Given the description of an element on the screen output the (x, y) to click on. 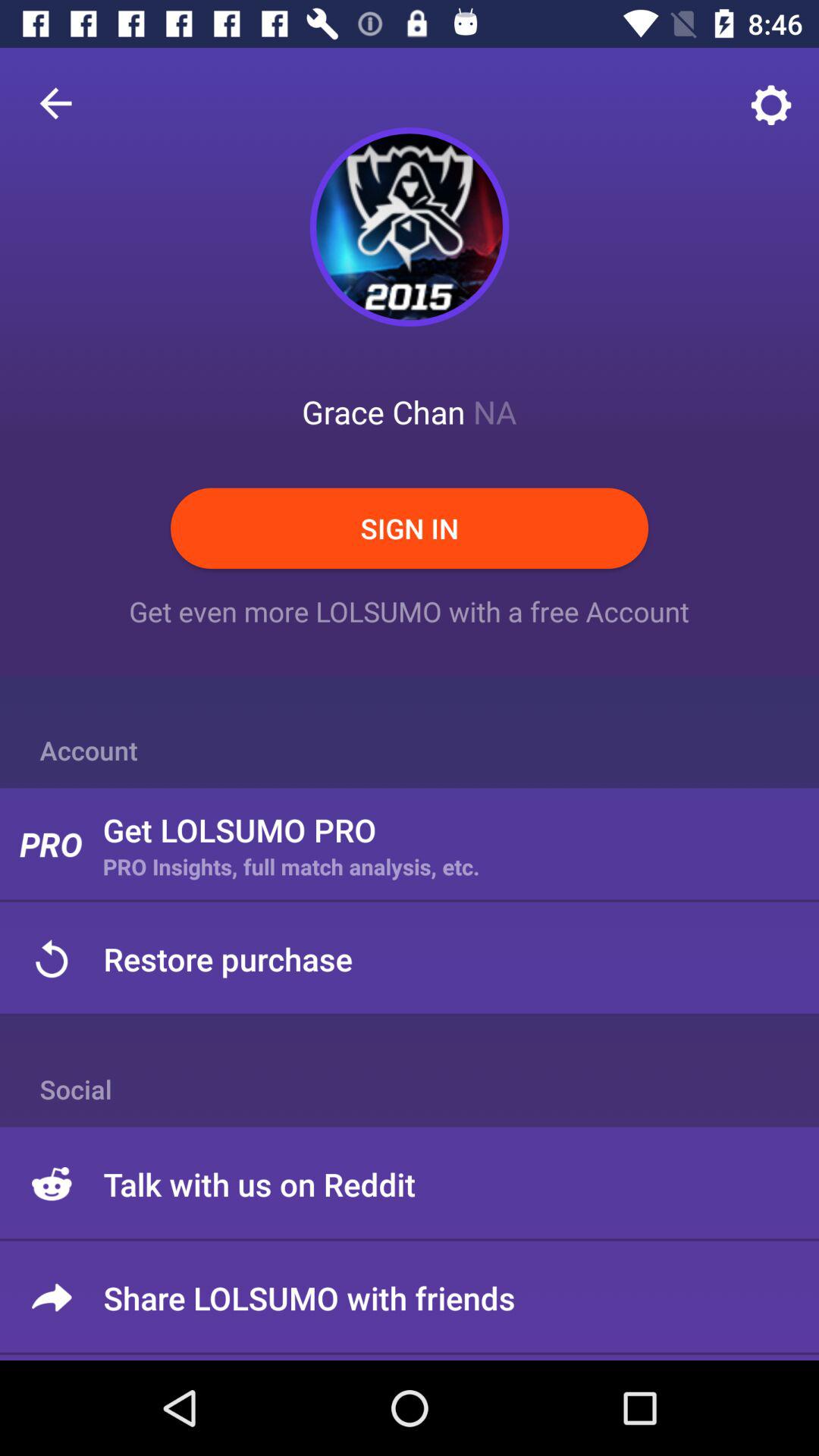
open item above the grace chan icon (409, 226)
